Given the description of an element on the screen output the (x, y) to click on. 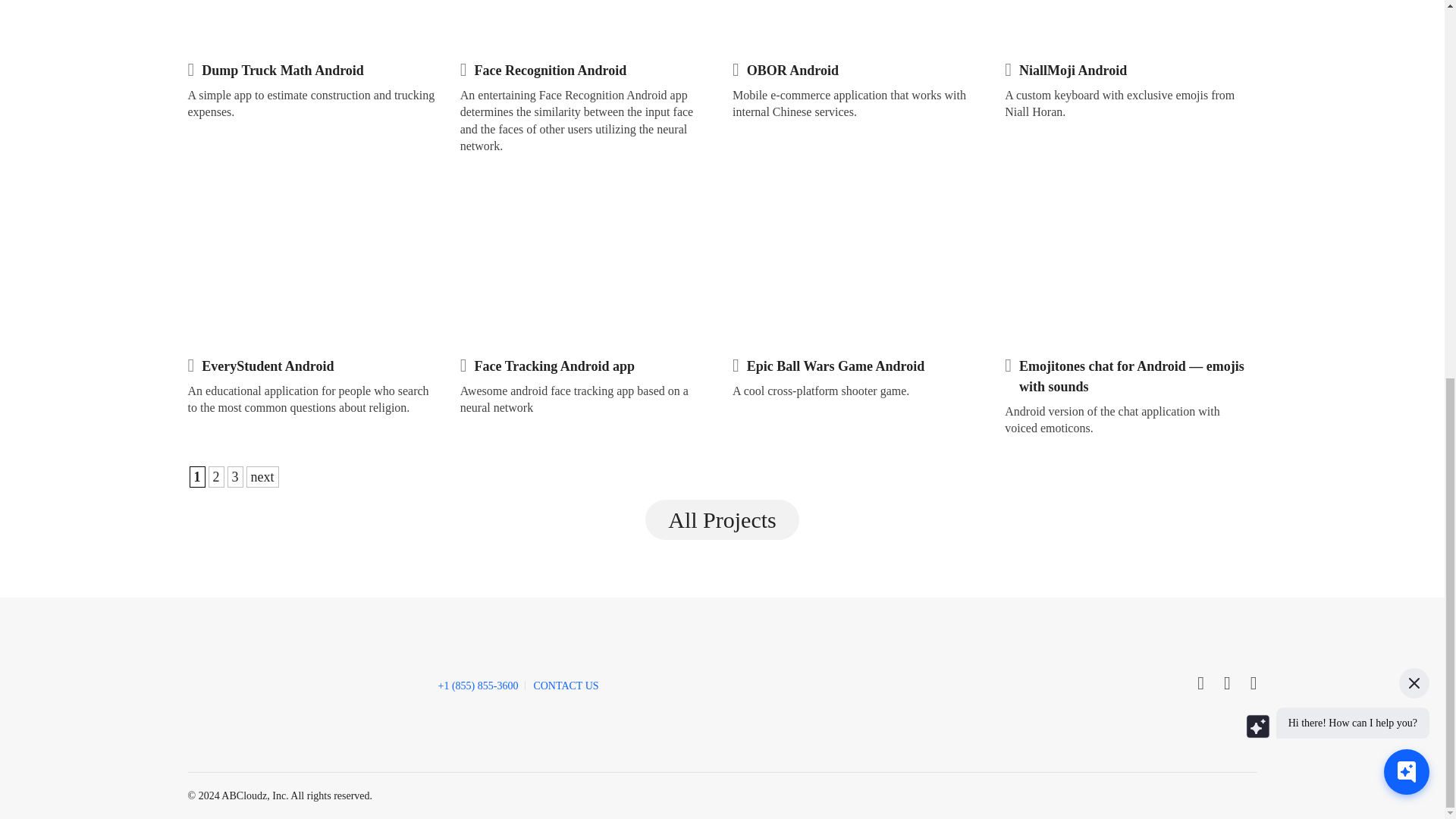
EveryStudent Android (267, 366)
Face Recognition Android (550, 70)
CONTACT US (565, 685)
Epic Ball Wars Game Android (835, 366)
All Projects (722, 519)
NiallMoji Android (1072, 70)
OBOR Android (792, 70)
Face Tracking Android app (554, 366)
Dump Truck Math Android (283, 70)
next (262, 476)
